Given the description of an element on the screen output the (x, y) to click on. 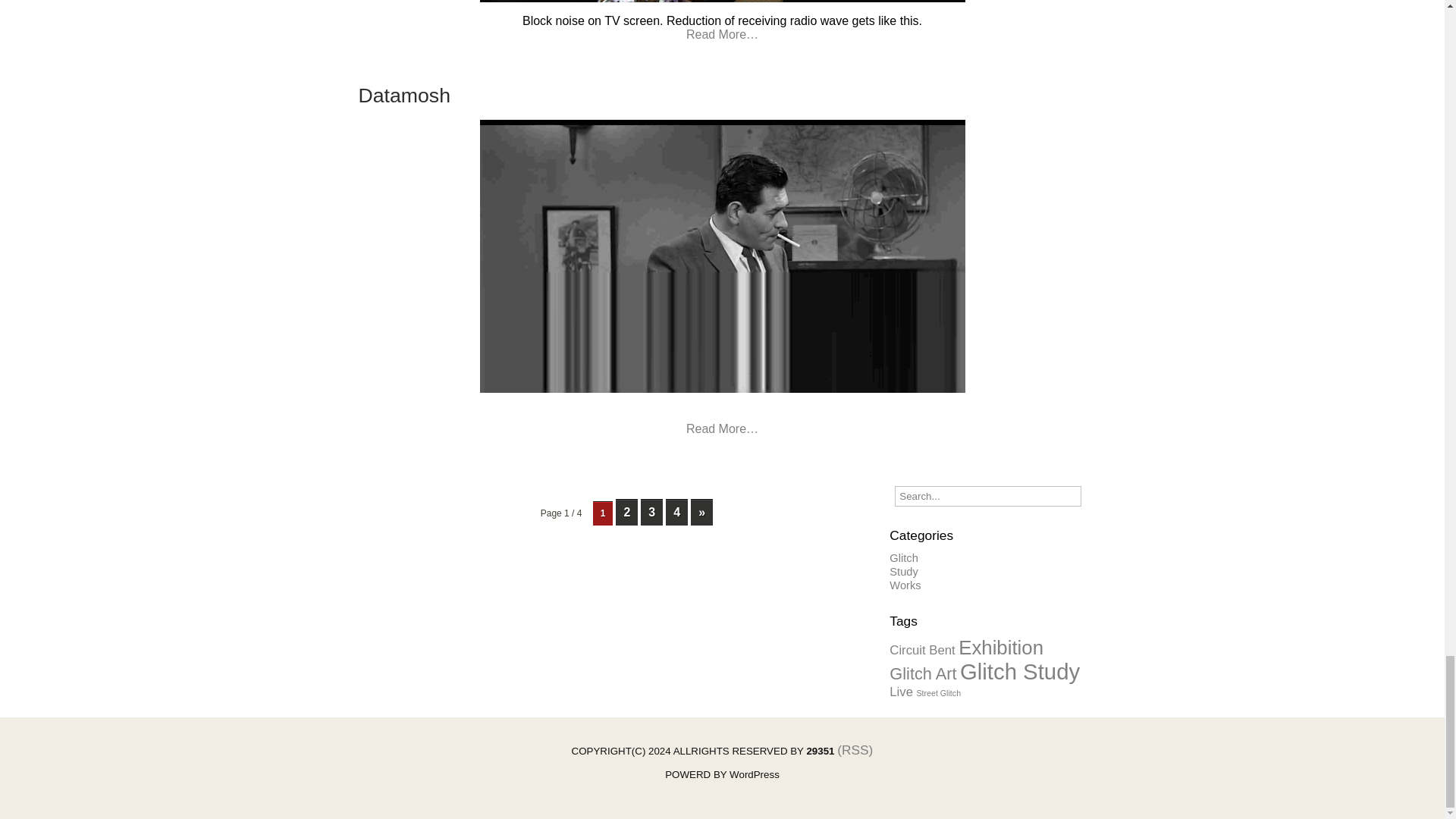
Street Glitch (937, 692)
4 topics (922, 673)
Search... (987, 496)
Datamosh (403, 95)
Glitch Study (1019, 671)
Glitch (903, 558)
3 topics (922, 649)
6 topics (1019, 671)
Glitch Art (922, 673)
Datamosh (403, 95)
5 topics (1000, 647)
3 topics (900, 691)
Works (904, 585)
Circuit Bent (922, 649)
Study (903, 571)
